Given the description of an element on the screen output the (x, y) to click on. 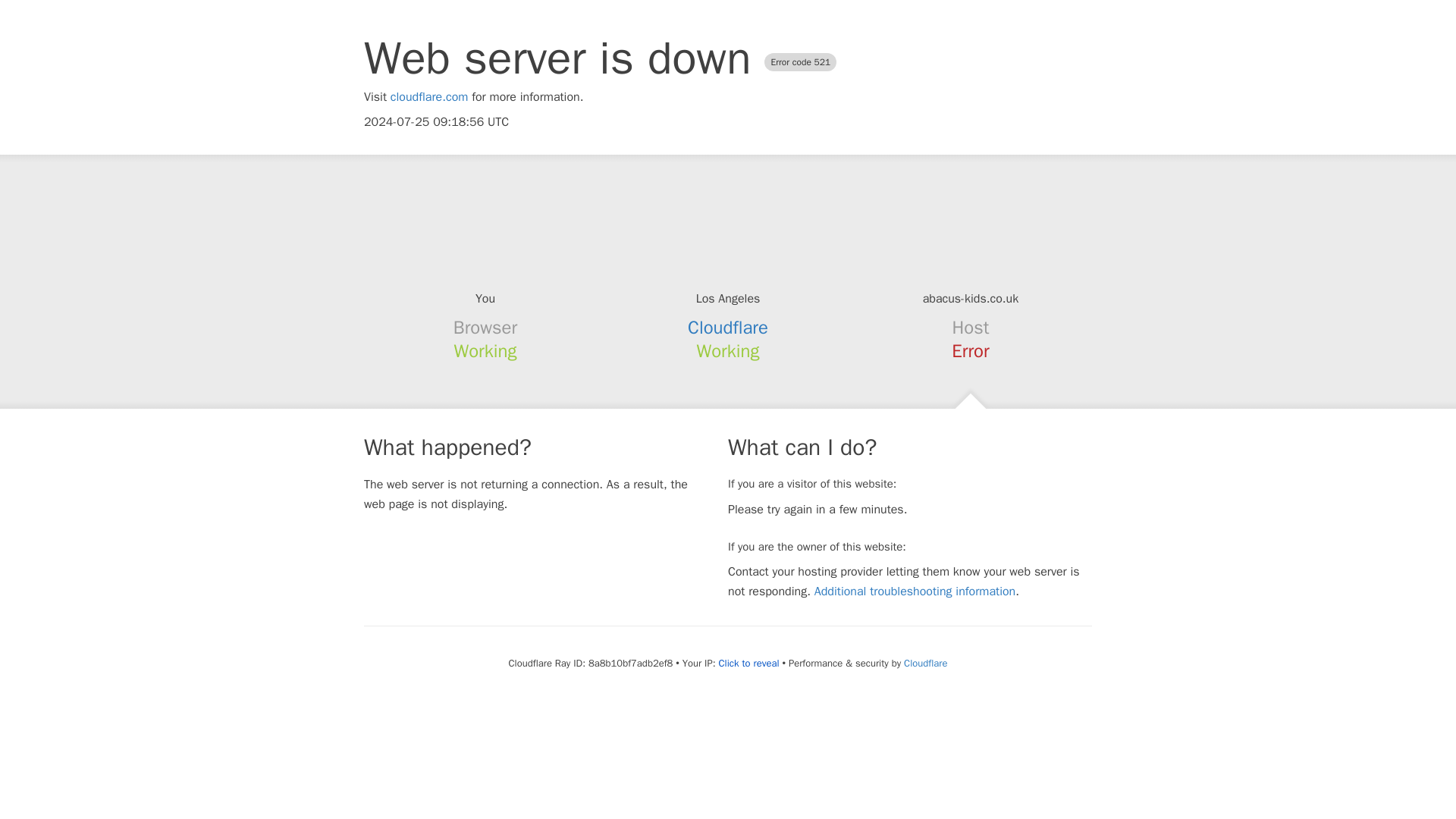
Cloudflare (925, 662)
Additional troubleshooting information (913, 590)
Click to reveal (748, 663)
Cloudflare (727, 327)
cloudflare.com (429, 96)
